Given the description of an element on the screen output the (x, y) to click on. 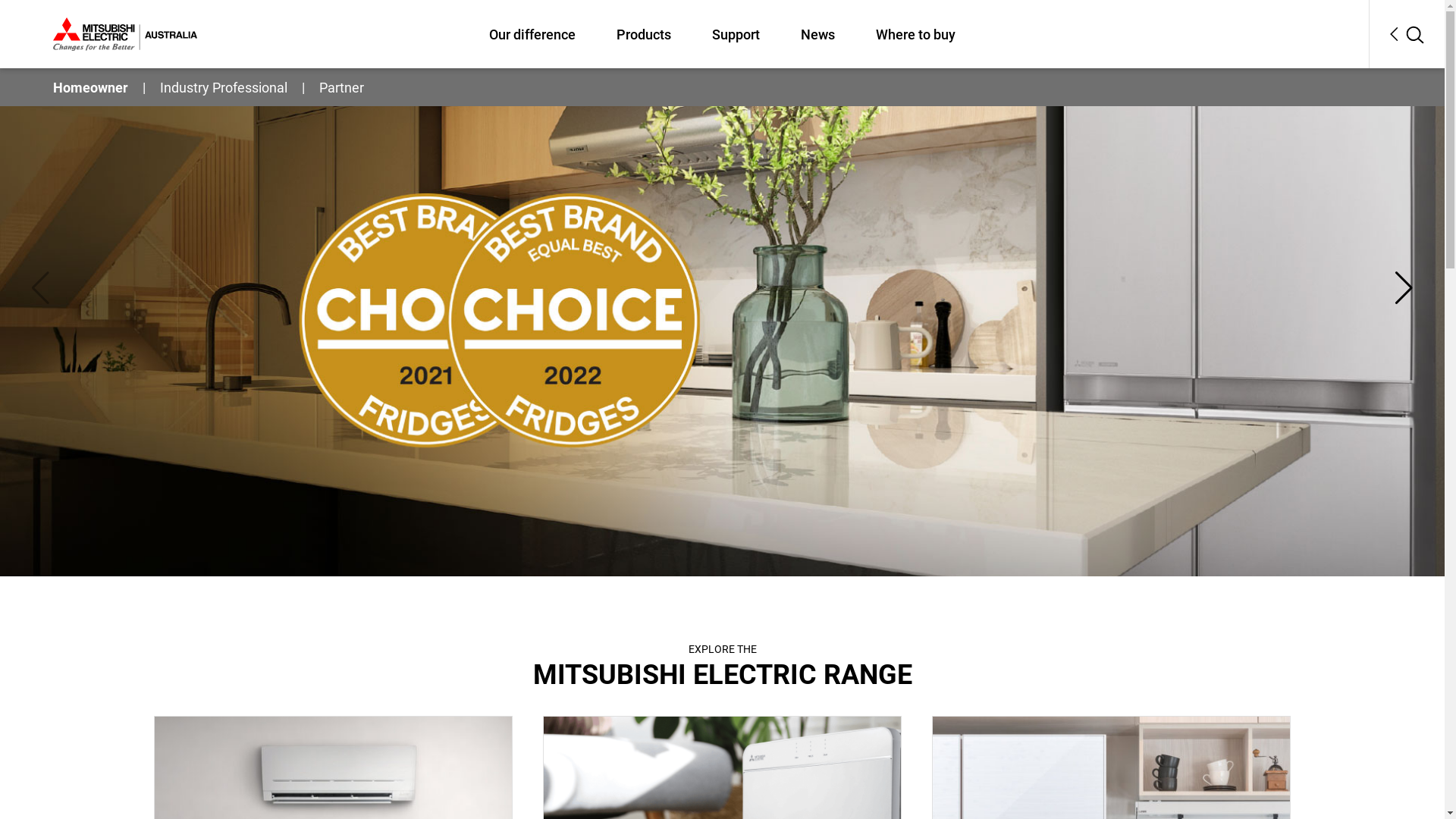
Industry Professional Element type: text (223, 87)
Support Element type: text (735, 33)
Products Element type: text (643, 33)
Our difference Element type: text (532, 33)
News Element type: text (817, 33)
Homeowner Element type: text (90, 87)
Partner Element type: text (341, 87)
Where to buy Element type: text (915, 33)
